Given the description of an element on the screen output the (x, y) to click on. 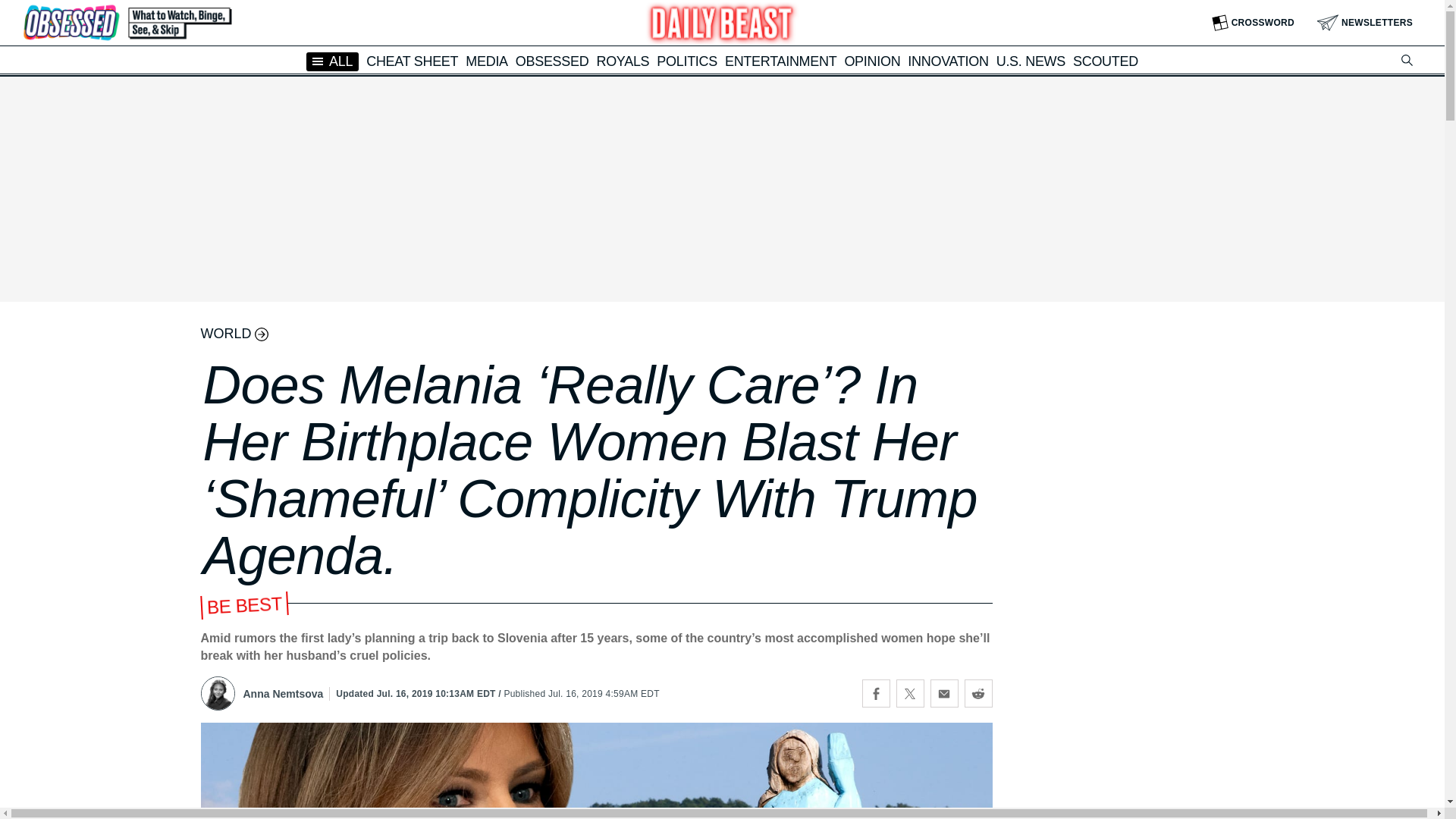
OPINION (871, 60)
OBSESSED (552, 60)
SCOUTED (1105, 60)
ENTERTAINMENT (780, 60)
ALL (331, 60)
U.S. NEWS (1030, 60)
MEDIA (486, 60)
CHEAT SHEET (412, 60)
INNOVATION (947, 60)
ROYALS (622, 60)
CROSSWORD (1252, 22)
POLITICS (686, 60)
NEWSLETTERS (1364, 22)
